Given the description of an element on the screen output the (x, y) to click on. 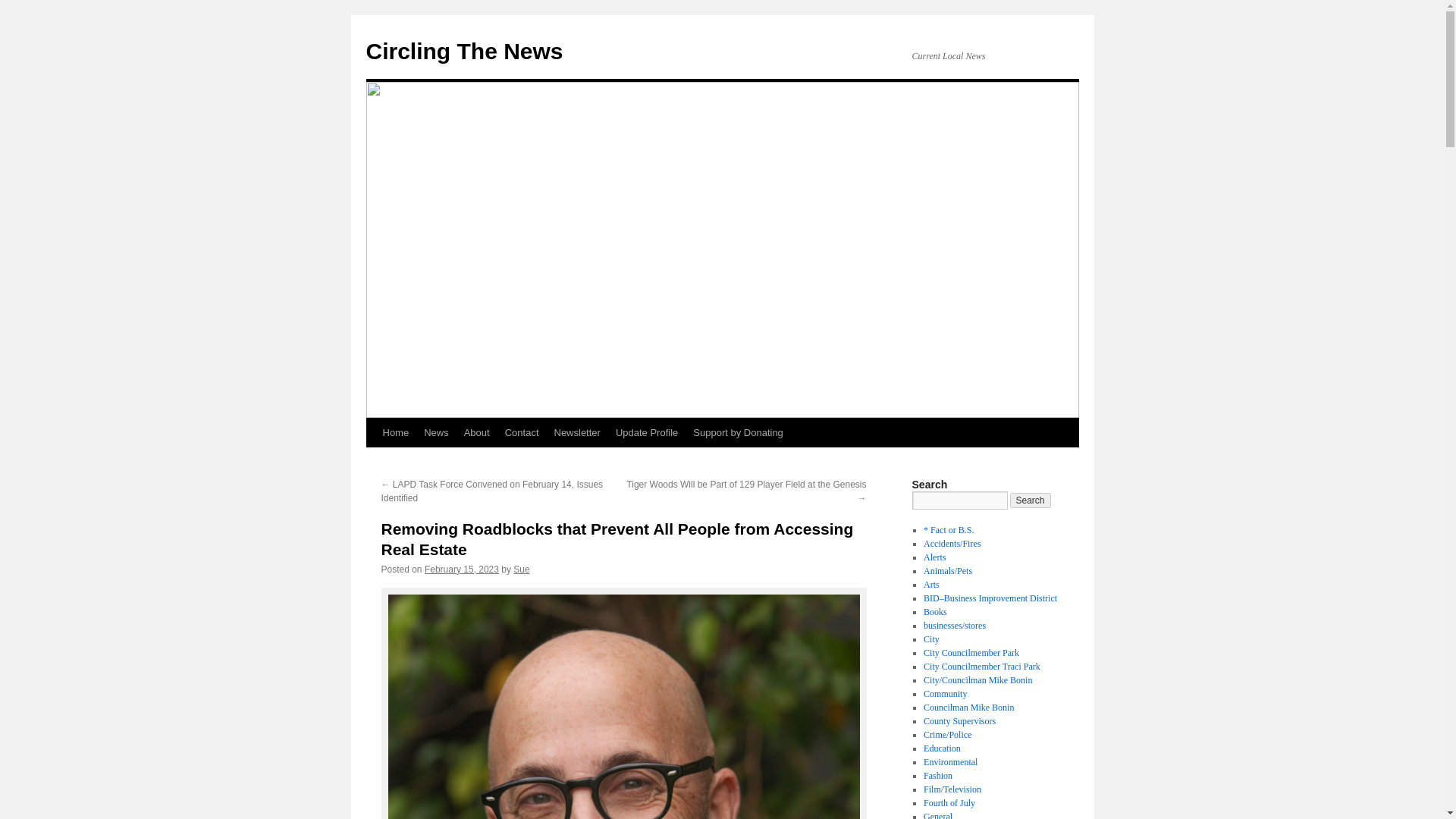
Education (941, 747)
City Councilmember Park (971, 652)
6:14 pm (462, 569)
Contact (522, 432)
Support by Donating (737, 432)
Update Profile (646, 432)
Arts (931, 584)
Circling The News (463, 50)
News (436, 432)
City Councilmember Traci Park (982, 665)
